Given the description of an element on the screen output the (x, y) to click on. 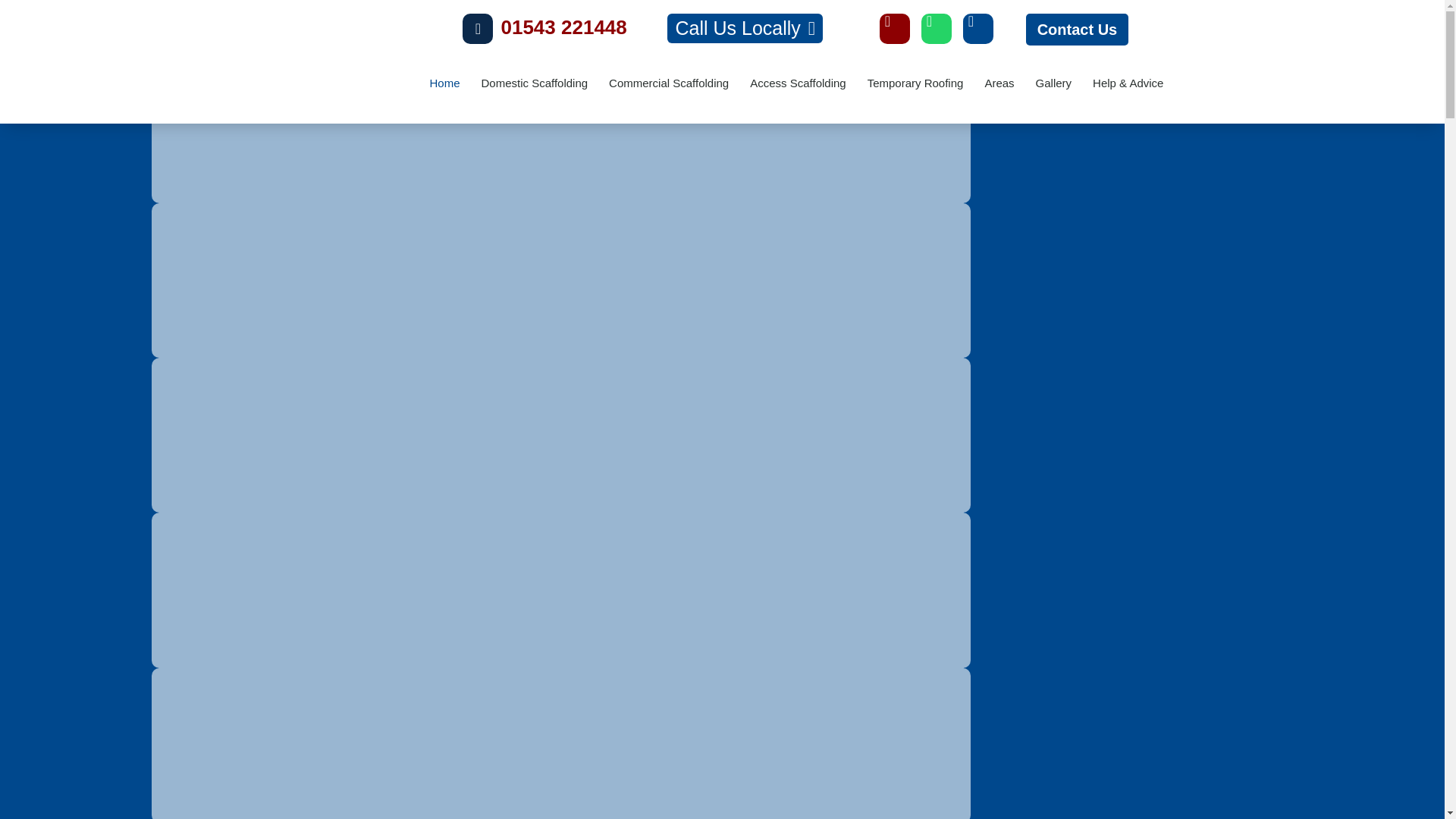
01543 221448 (563, 26)
Whatsapp (936, 28)
Domestic Scaffolding (534, 83)
Access Scaffolding (797, 83)
Gallery (1054, 83)
Commercial Scaffolding (668, 83)
Call Us Locally (744, 28)
Contact Us (1077, 29)
Areas (999, 83)
Envelope (894, 28)
